Given the description of an element on the screen output the (x, y) to click on. 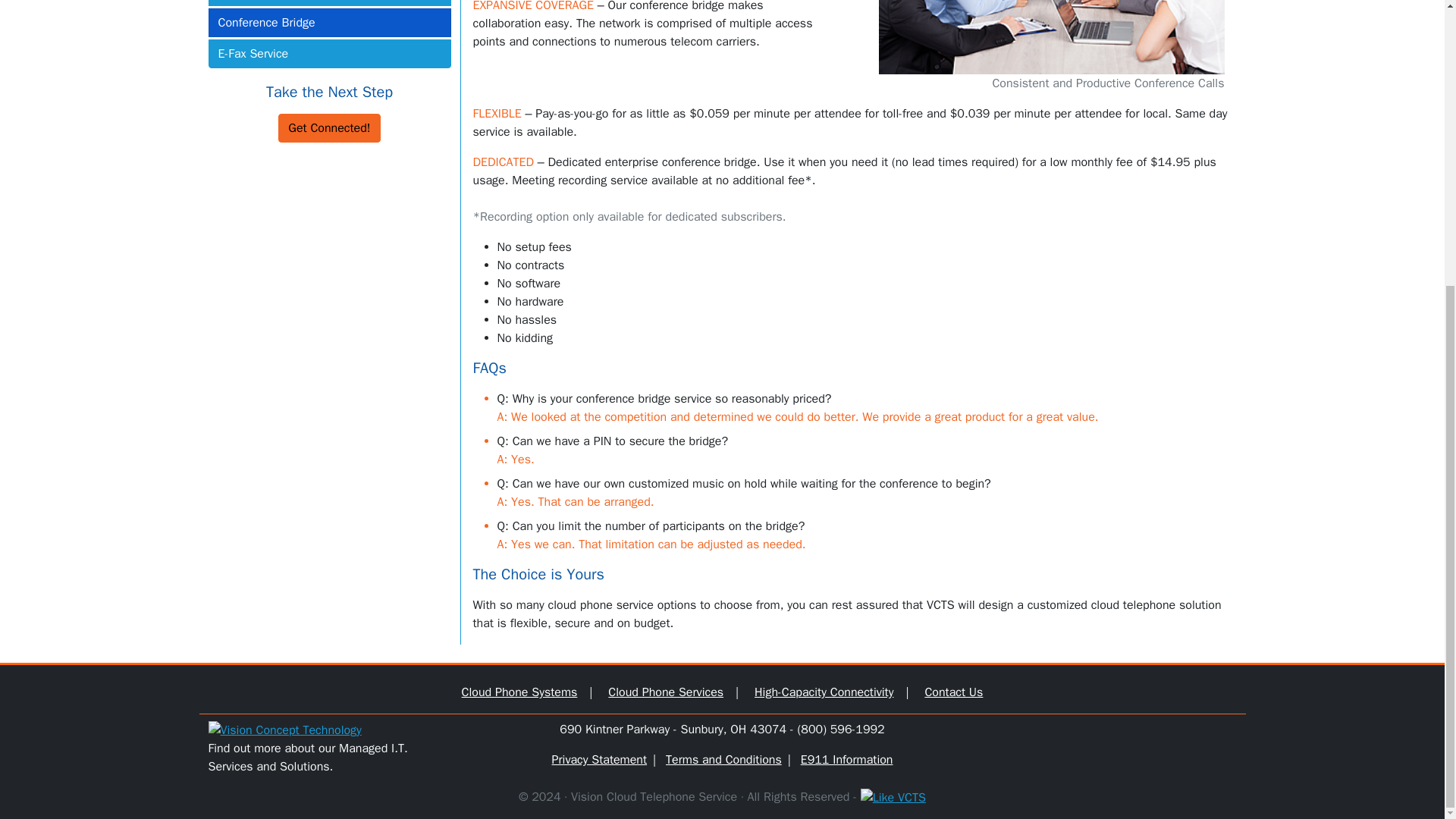
E-Fax Service (328, 53)
PRI Service (328, 2)
Get Connected! (329, 127)
Conference Bridge (328, 22)
